Given the description of an element on the screen output the (x, y) to click on. 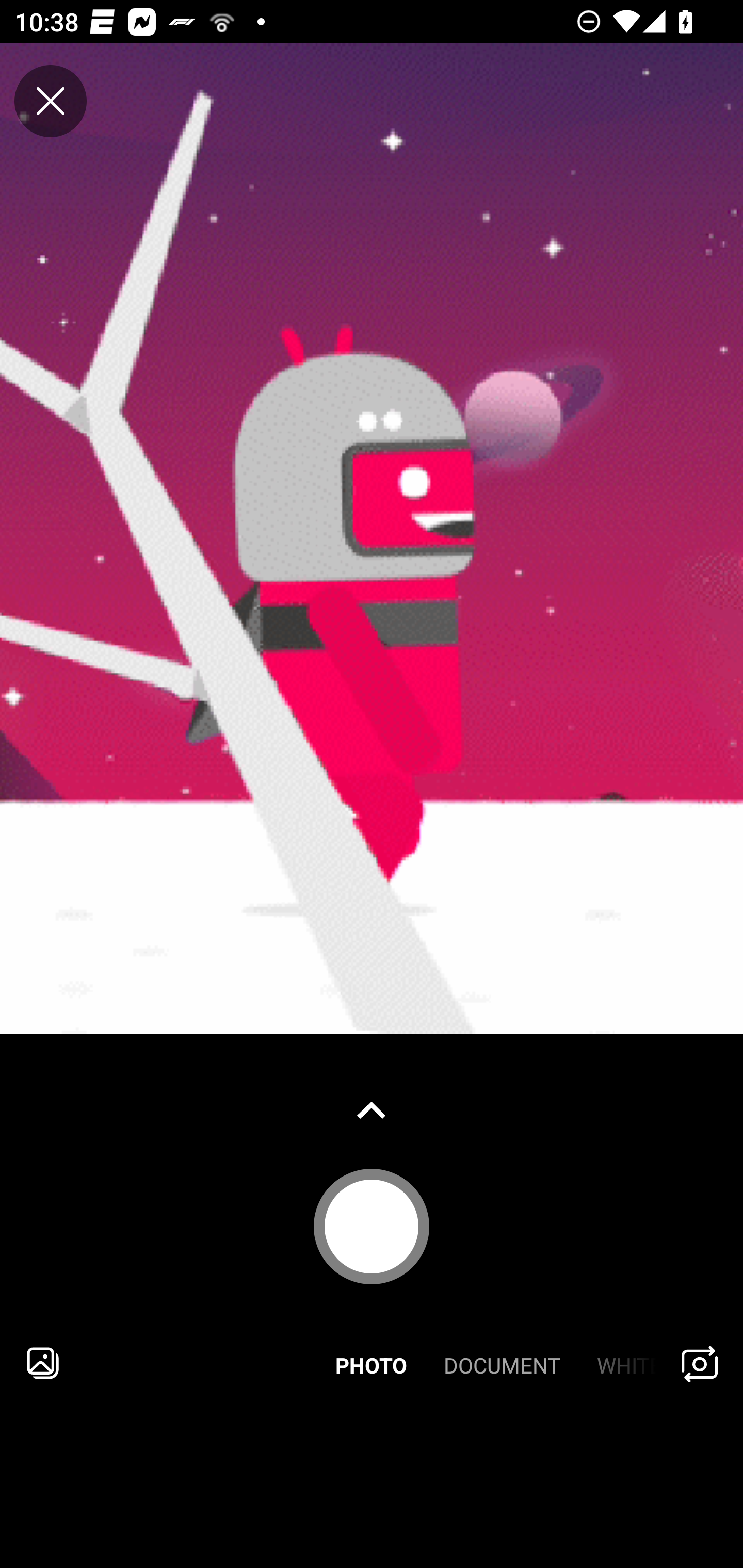
Close (50, 101)
Show gallery (371, 1110)
Capture (371, 1226)
Import (43, 1363)
Flip Camera (699, 1363)
PHOTO (371, 1362)
DOCUMENT (502, 1362)
WHITEBOARD (619, 1362)
